Given the description of an element on the screen output the (x, y) to click on. 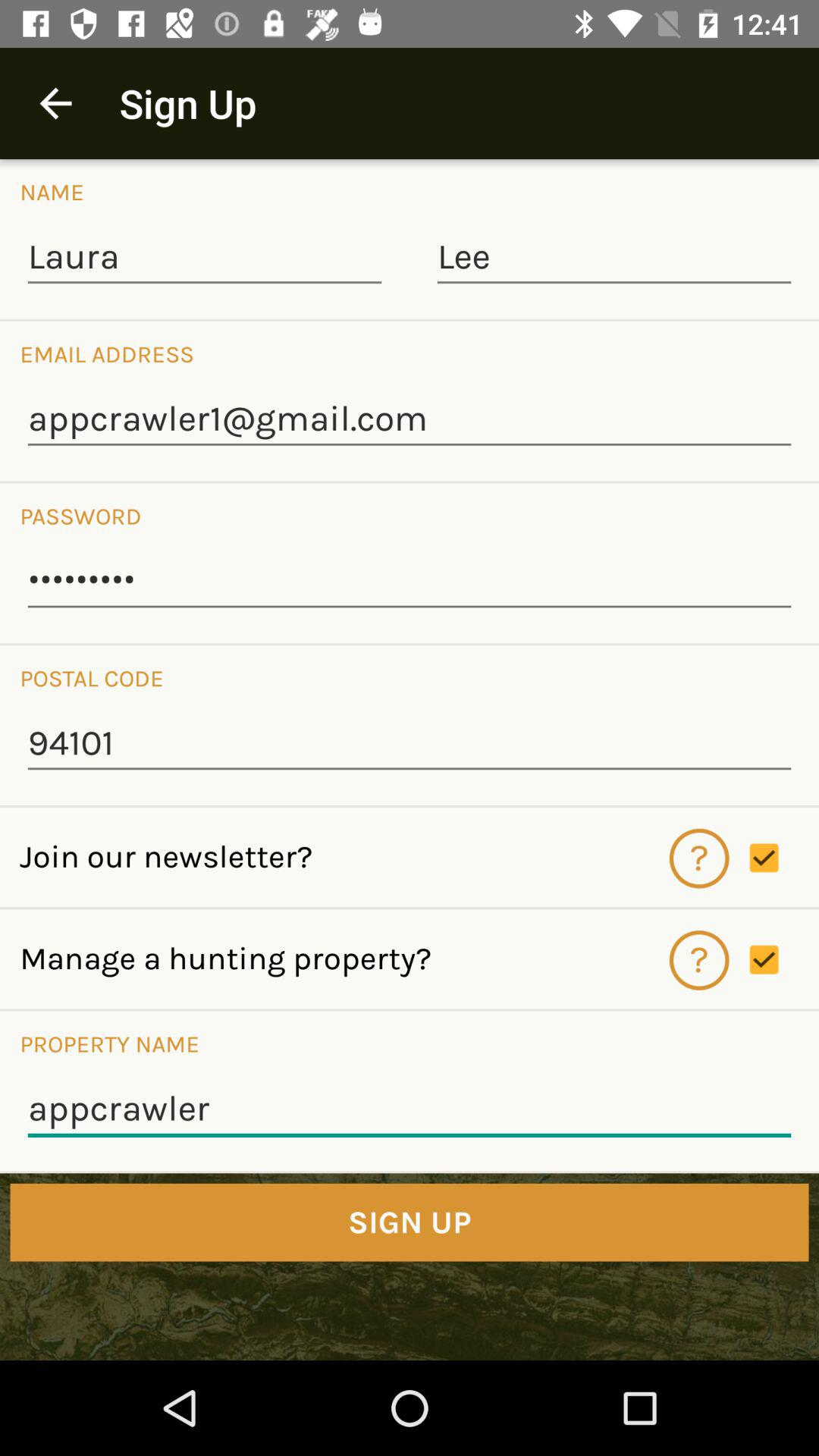
turn off the item next to laura (614, 257)
